Given the description of an element on the screen output the (x, y) to click on. 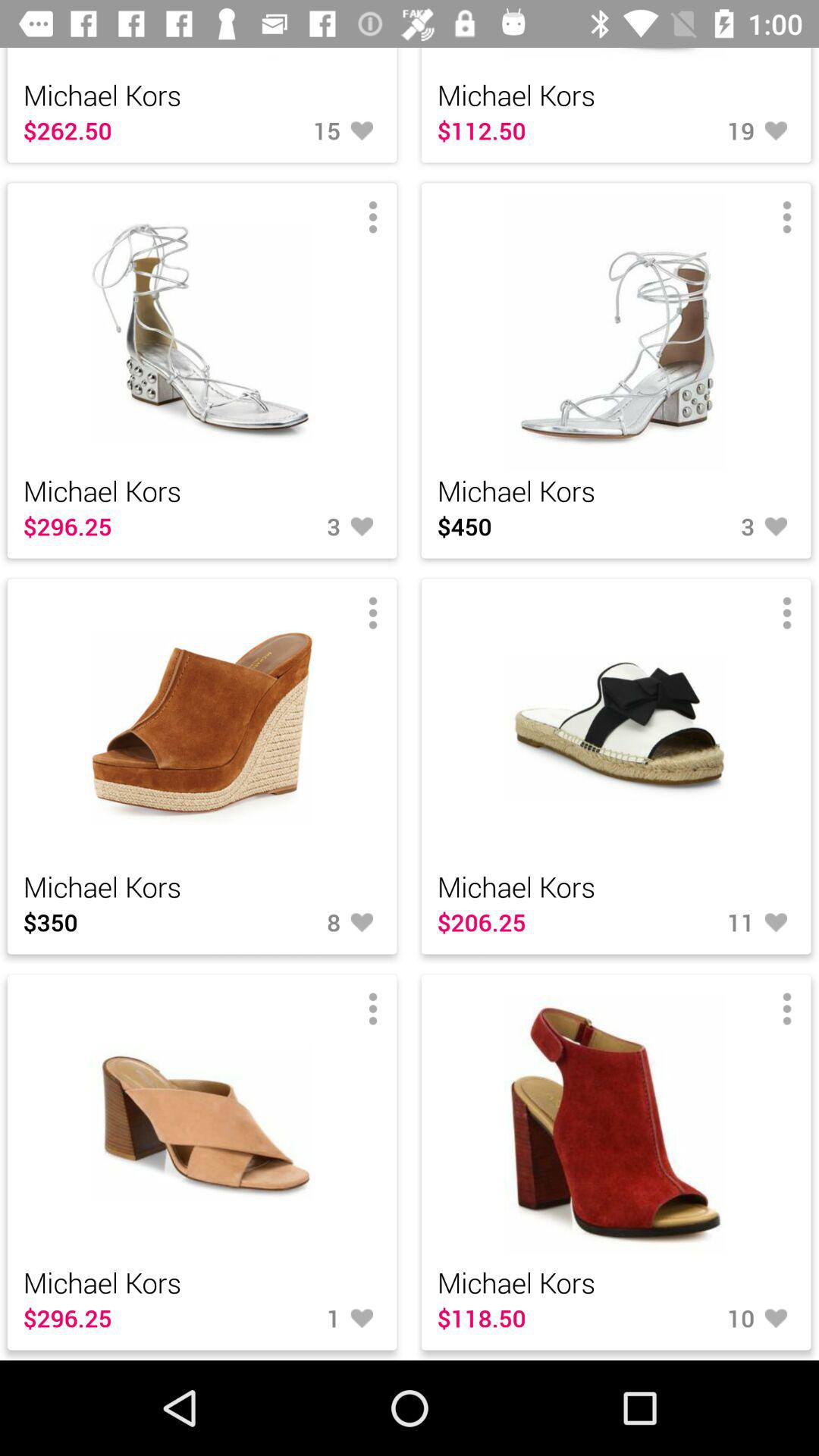
click on the menu bar on the bottom right image (787, 1008)
click on the heart symbol of the top right image (705, 526)
select the number beside 20625 (705, 922)
select the third menu button above 8 like button (373, 613)
